Given the description of an element on the screen output the (x, y) to click on. 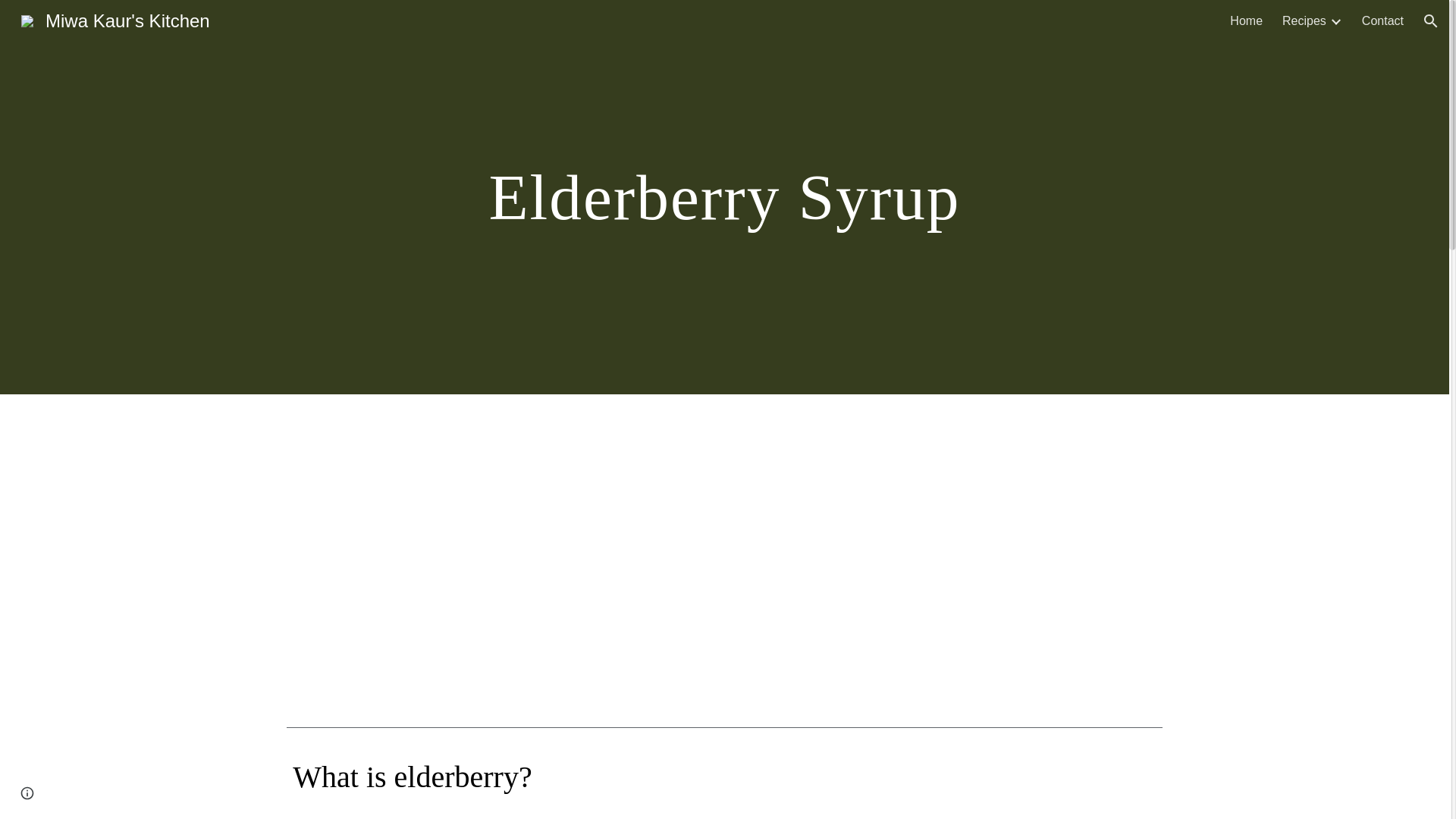
Recipes (1304, 20)
Miwa Kaur's Kitchen (115, 19)
Home (1246, 20)
